Given the description of an element on the screen output the (x, y) to click on. 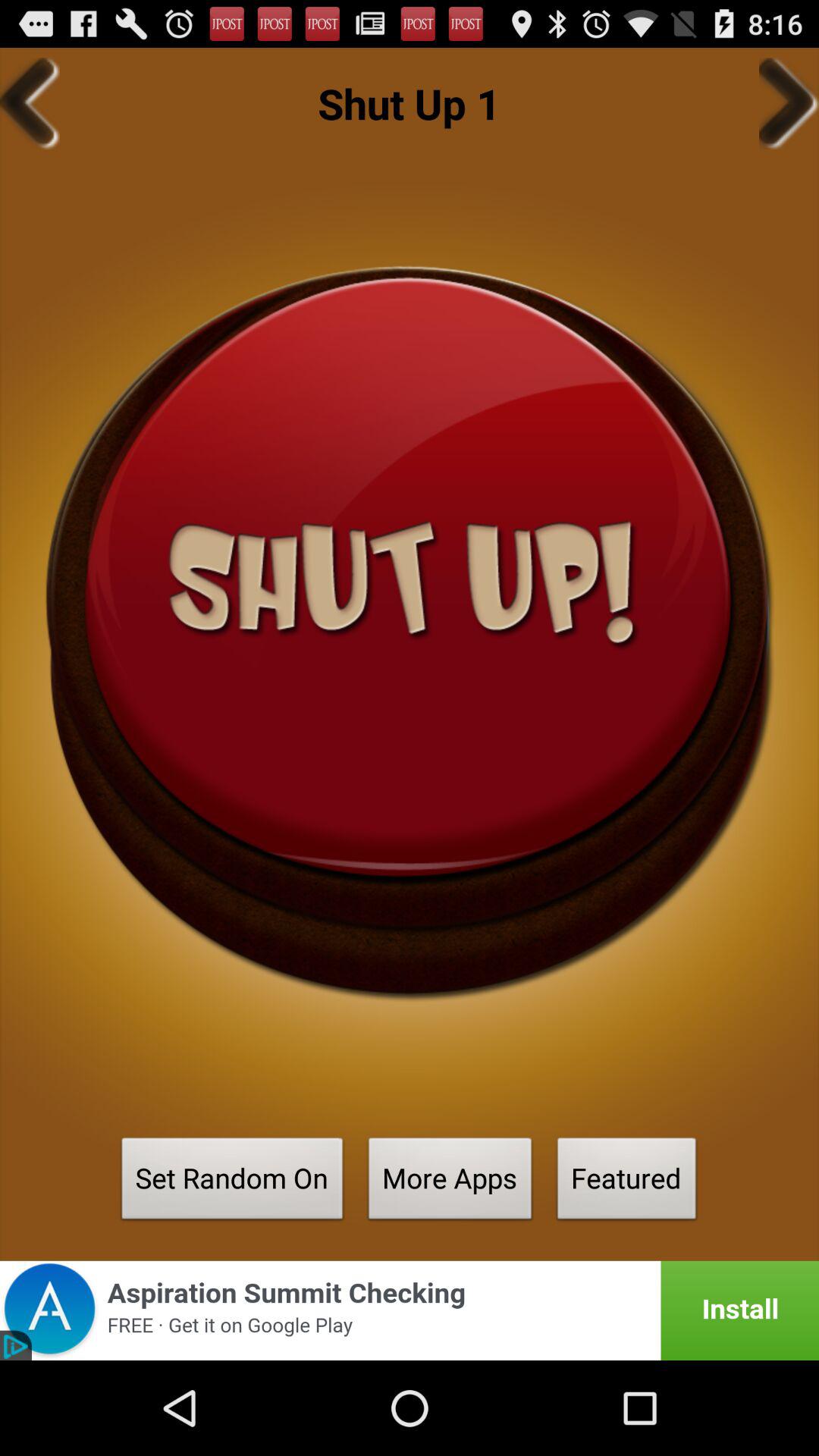
share the article (409, 1310)
